Given the description of an element on the screen output the (x, y) to click on. 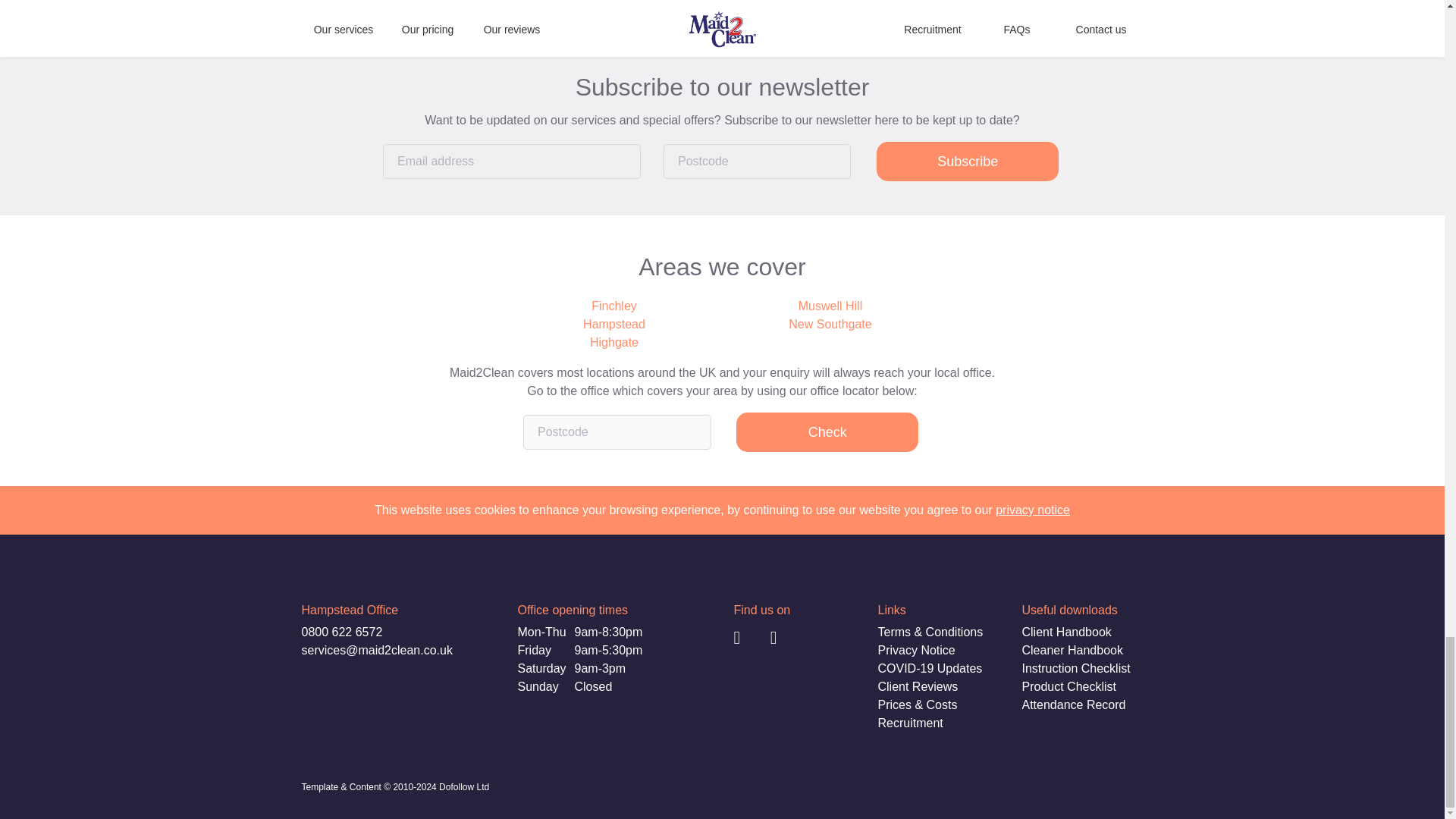
Hampstead (614, 324)
Twitter (790, 638)
0800 622 6572 (341, 632)
privacy notice (1032, 510)
Privacy Notice (916, 650)
Highgate (614, 342)
Client Handbook (1067, 632)
Muswell Hill (829, 306)
Finchley (614, 306)
Check (827, 432)
